Given the description of an element on the screen output the (x, y) to click on. 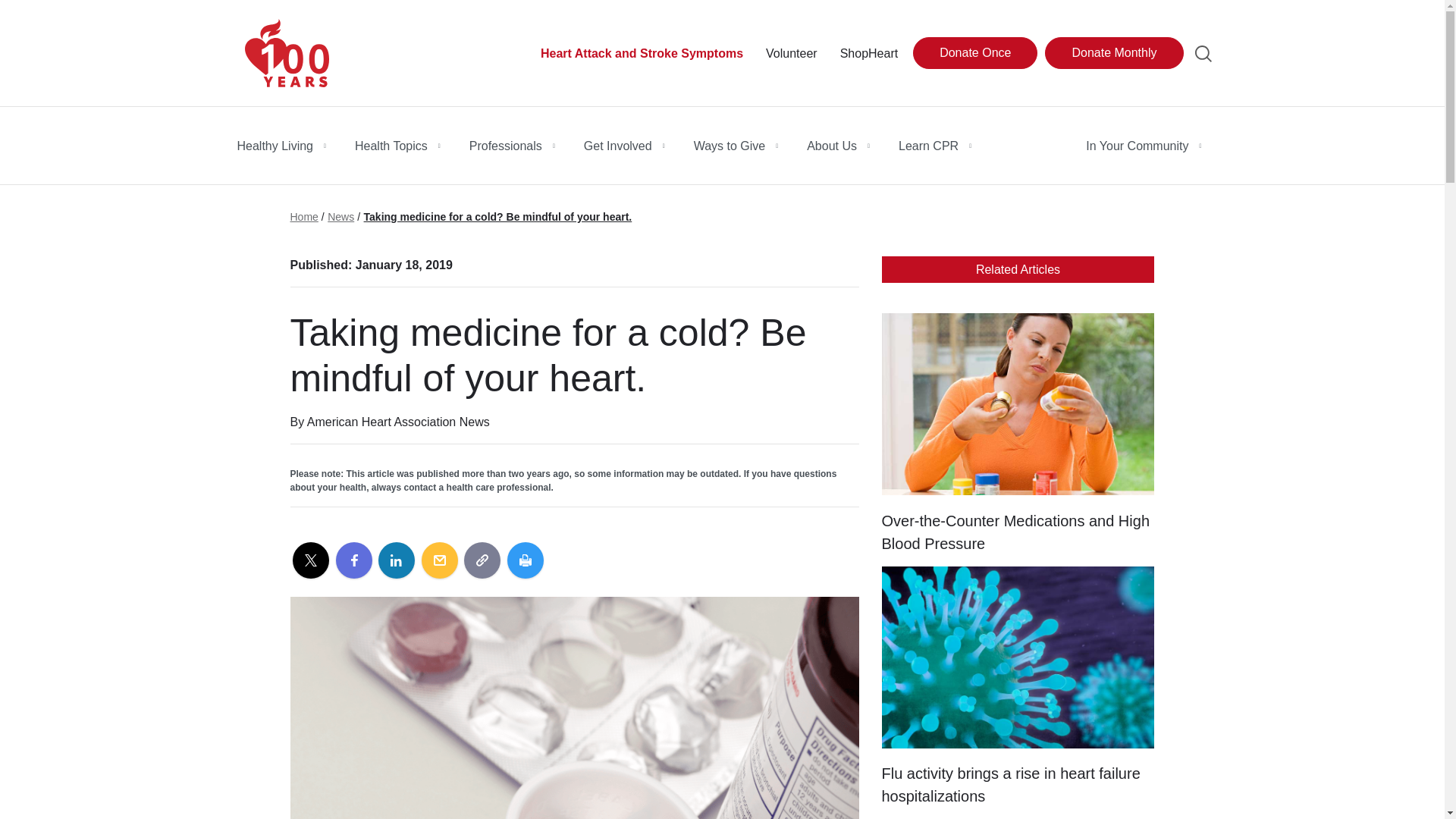
ShopHeart (869, 54)
Search (1203, 54)
Donate Monthly (1113, 52)
Heart Attack and Stroke Symptoms (641, 54)
Volunteer (790, 54)
Donate Once (974, 52)
